Given the description of an element on the screen output the (x, y) to click on. 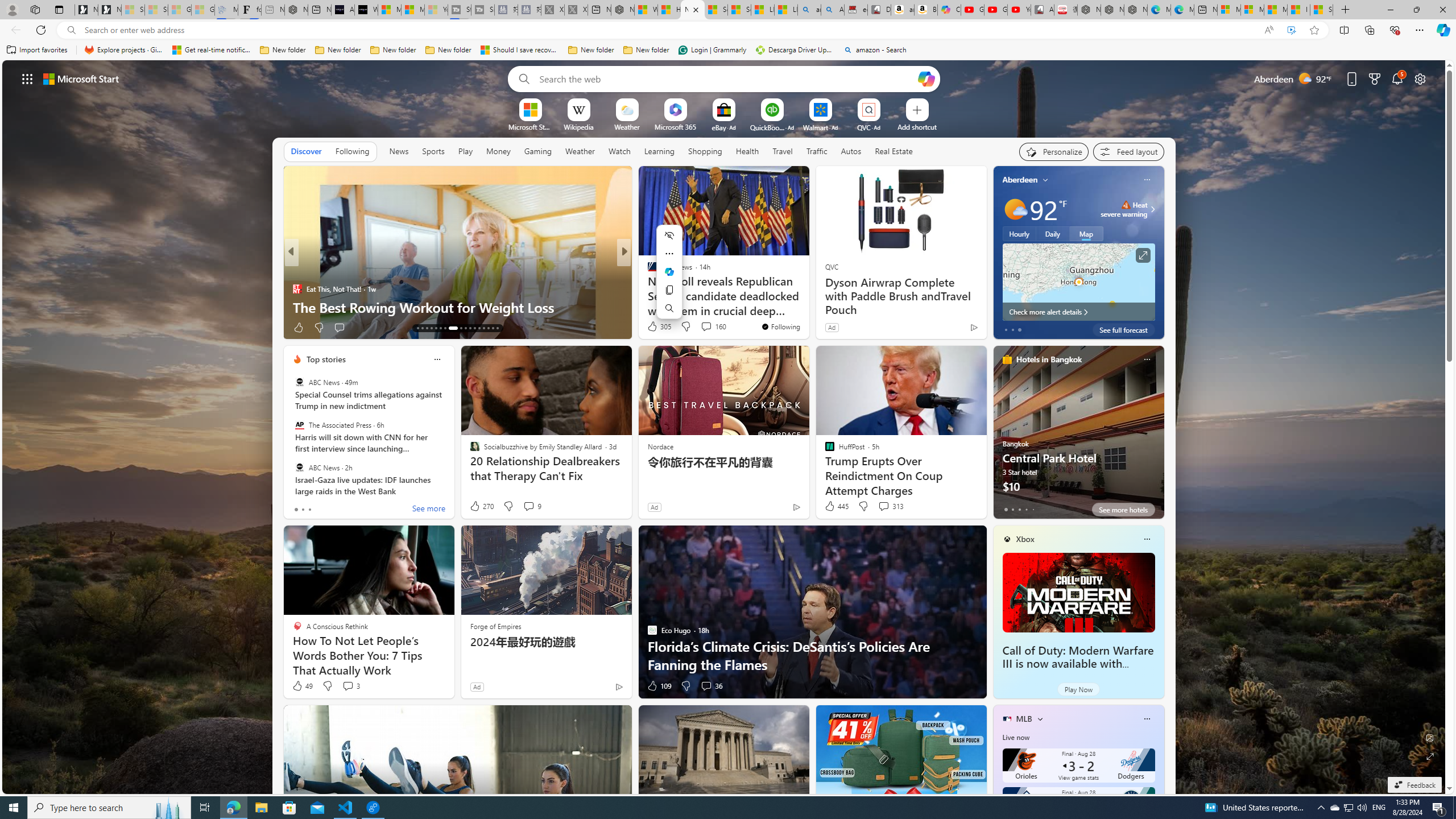
Money (498, 151)
The Associated Press (299, 424)
AutomationID: tab-18 (440, 328)
Washington Examiner (296, 270)
63 Like (303, 327)
Travel (782, 151)
View comments 6 Comment (703, 327)
Heat - Severe Heat severe warning (1123, 208)
AutomationID: tab-21 (458, 328)
Tom's Guide (647, 288)
Microsoft 365 (675, 126)
Learning (658, 151)
Daily (1052, 233)
Nordace - Nordace has arrived Hong Kong (1135, 9)
